Given the description of an element on the screen output the (x, y) to click on. 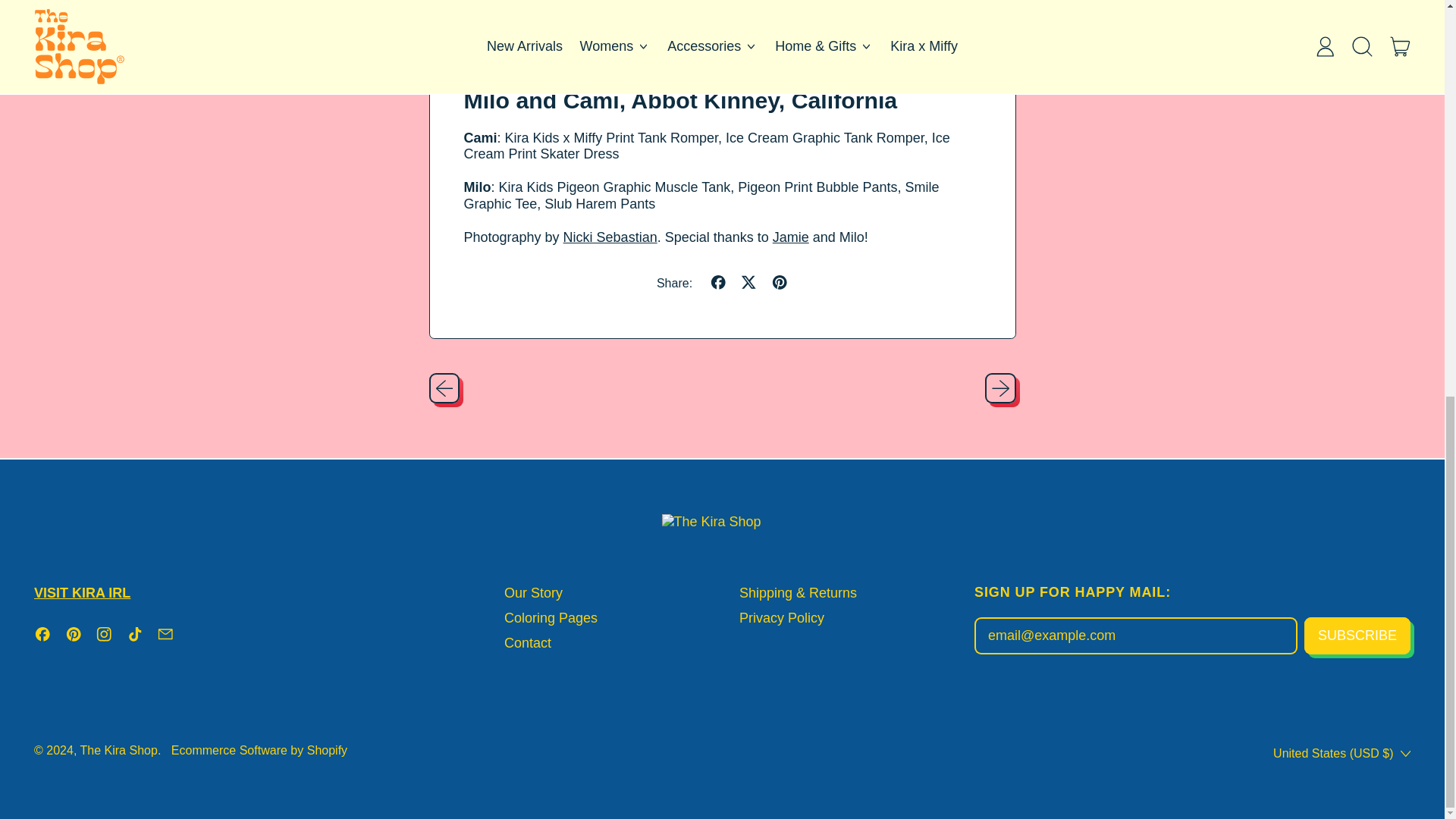
Share on Facebook (718, 283)
Jamie (791, 237)
Instagram (104, 638)
Facebook (41, 638)
Pin on Pinterest (779, 283)
Pinterest (73, 638)
VISIT KIRA IRL (82, 592)
TikTok (133, 638)
Visit Us IRL (82, 592)
Nicki Sebastian (610, 237)
